Given the description of an element on the screen output the (x, y) to click on. 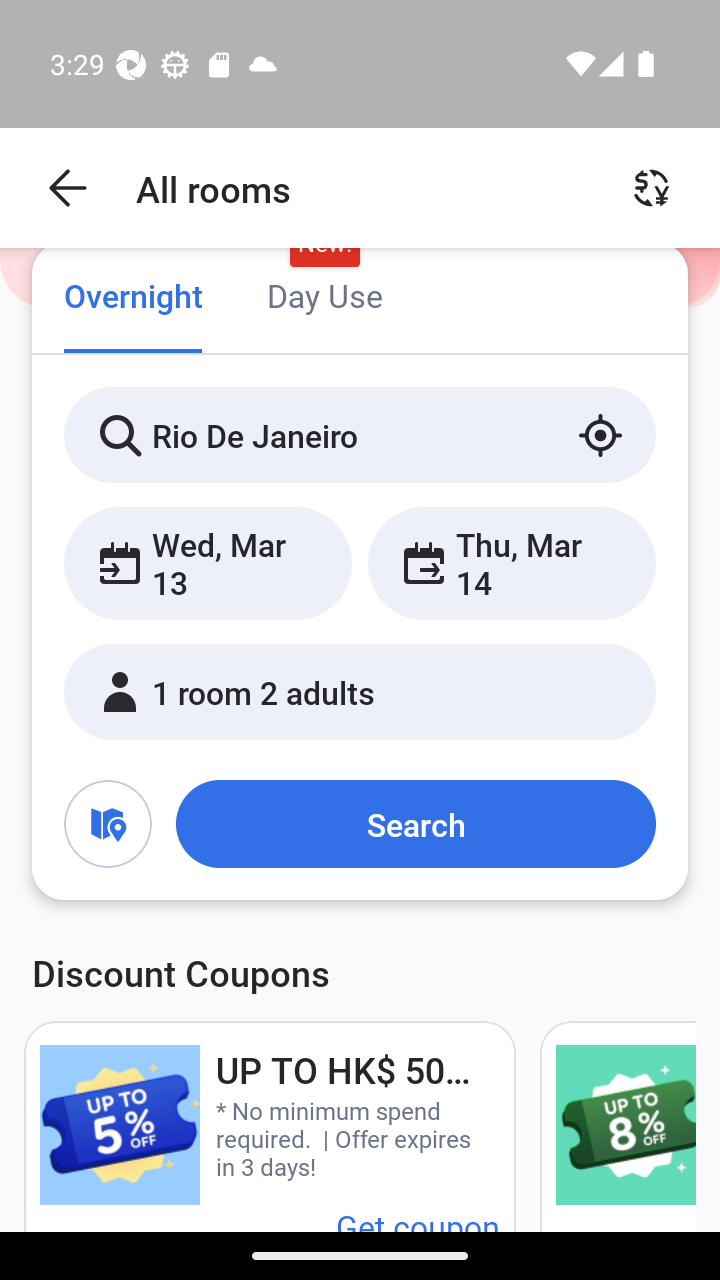
Day Use (324, 298)
Rio De Janeiro (359, 434)
Wed, Mar 13 (208, 562)
Thu, Mar 14 (511, 562)
1 room 2 adults (359, 691)
Search (415, 823)
